Given the description of an element on the screen output the (x, y) to click on. 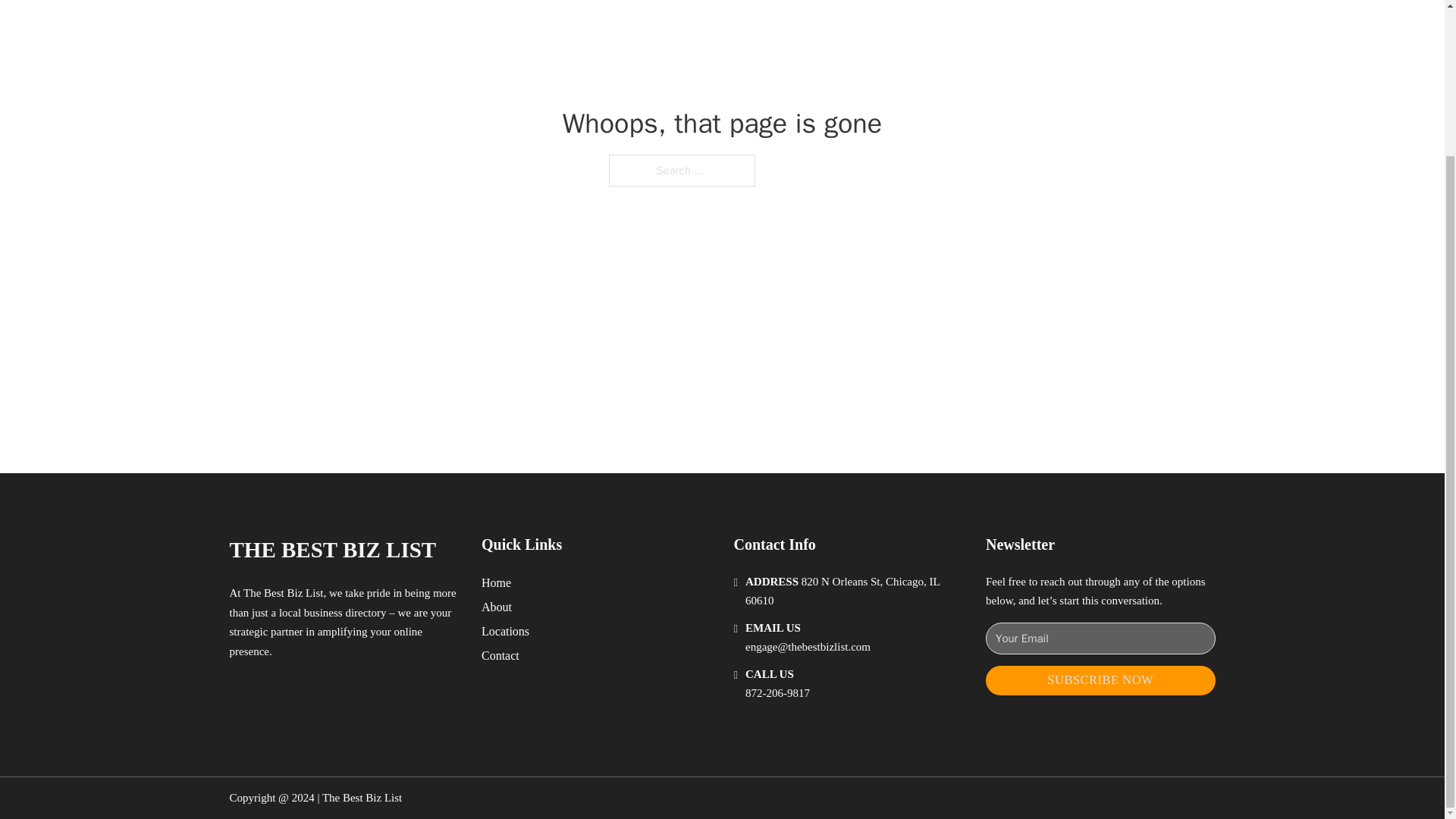
SUBSCRIBE NOW (1100, 680)
Home (496, 582)
872-206-9817 (777, 693)
Locations (505, 630)
Contact (500, 655)
About (496, 607)
THE BEST BIZ LIST (331, 549)
